Given the description of an element on the screen output the (x, y) to click on. 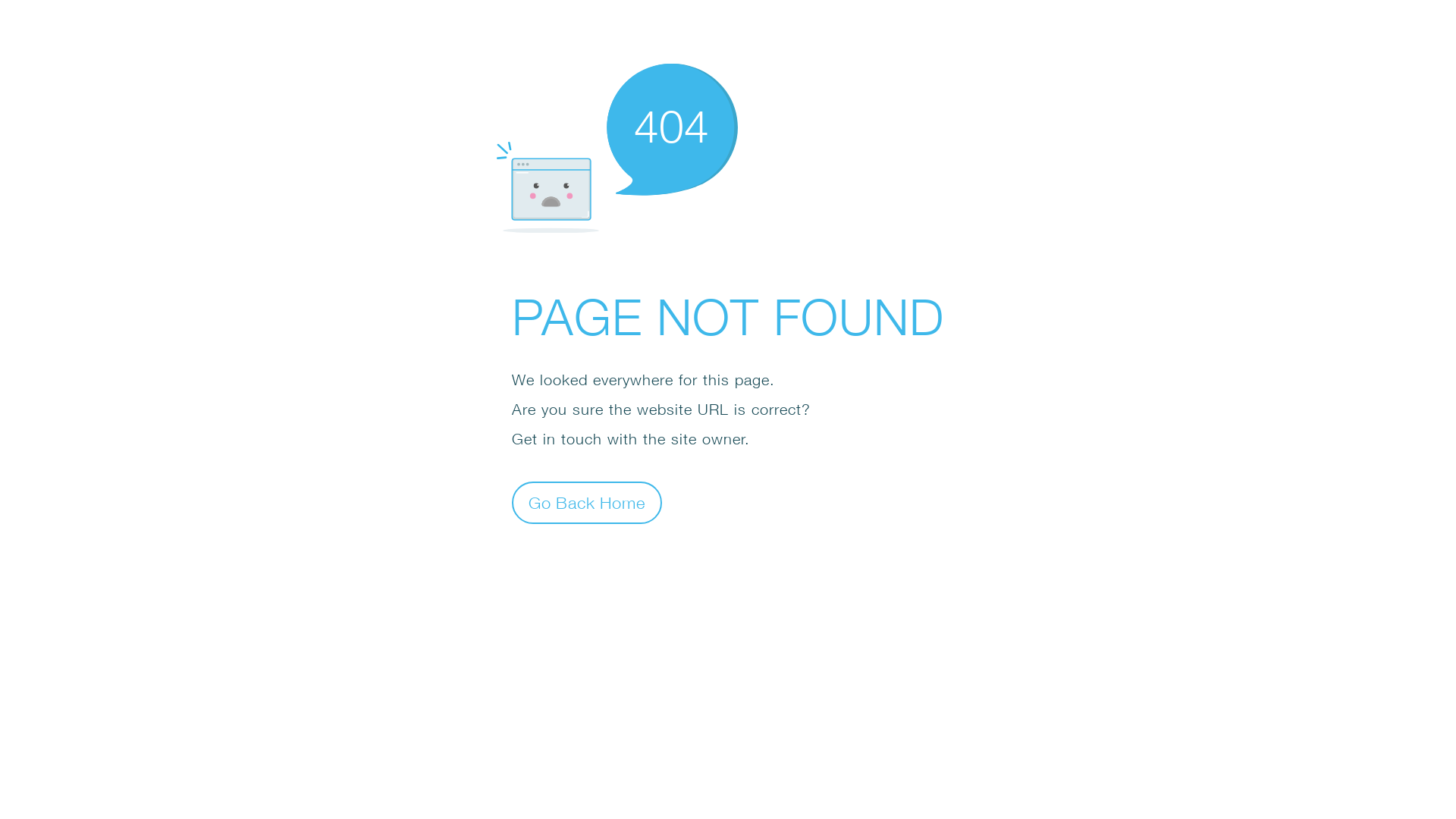
Go Back Home Element type: text (586, 502)
